Given the description of an element on the screen output the (x, y) to click on. 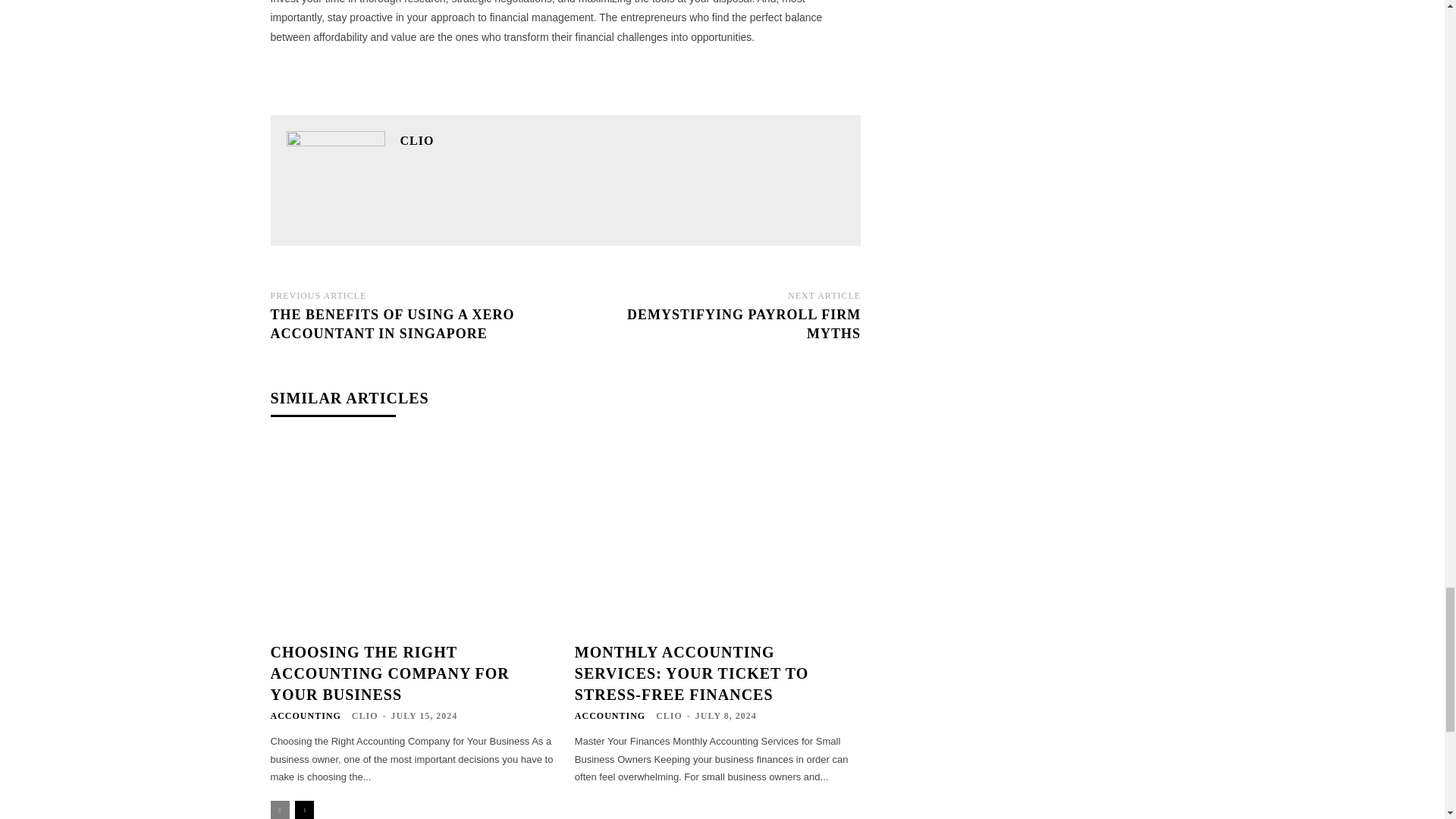
Choosing the Right Accounting Company for Your Business (412, 535)
clio (335, 180)
